Given the description of an element on the screen output the (x, y) to click on. 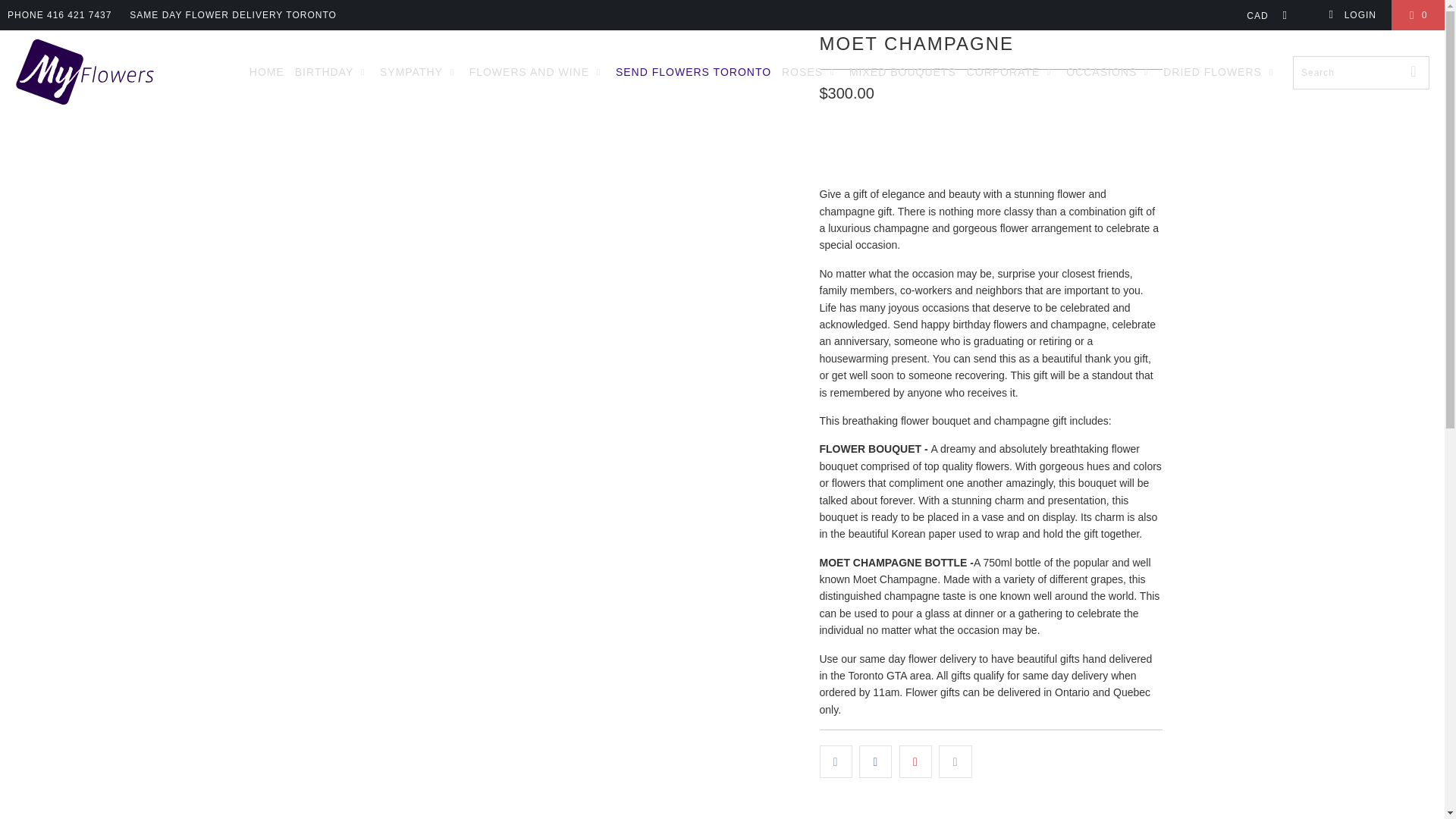
My Account  (1351, 15)
Share this on Facebook (875, 761)
Share this on Pinterest (915, 761)
Share this on Twitter (834, 761)
Email this to a friend (955, 761)
MY FLOWERS (84, 72)
